Given the description of an element on the screen output the (x, y) to click on. 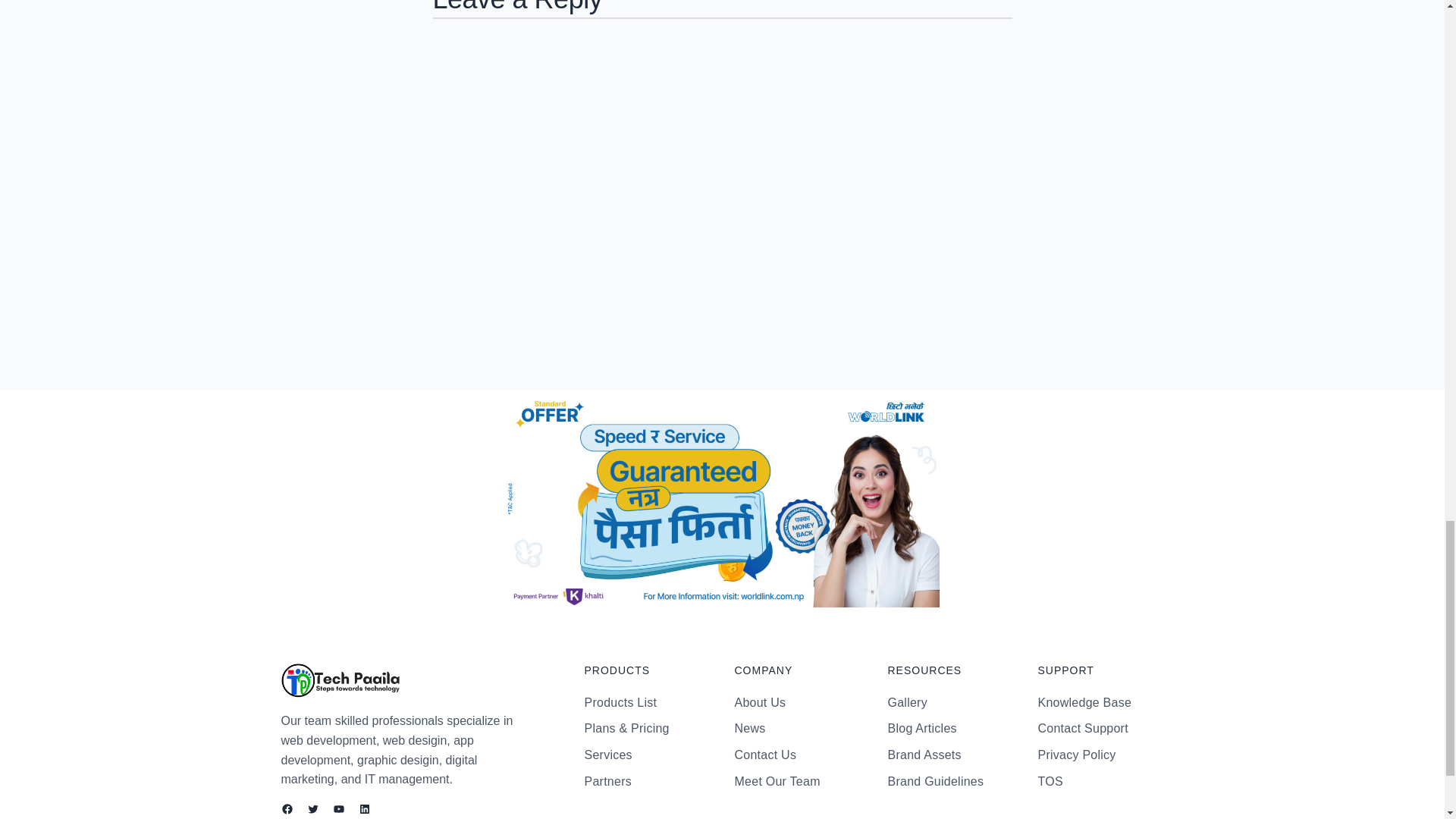
Contact Us (764, 754)
Twitter (311, 808)
Gallery (906, 702)
Facebook (286, 808)
YouTube (337, 808)
Services (607, 754)
Brand Assets (923, 754)
Brand Guidelines (935, 781)
LinkedIn (363, 808)
Partners (606, 781)
News (749, 728)
About Us (759, 702)
Blog Articles (921, 728)
Products List (619, 702)
